Given the description of an element on the screen output the (x, y) to click on. 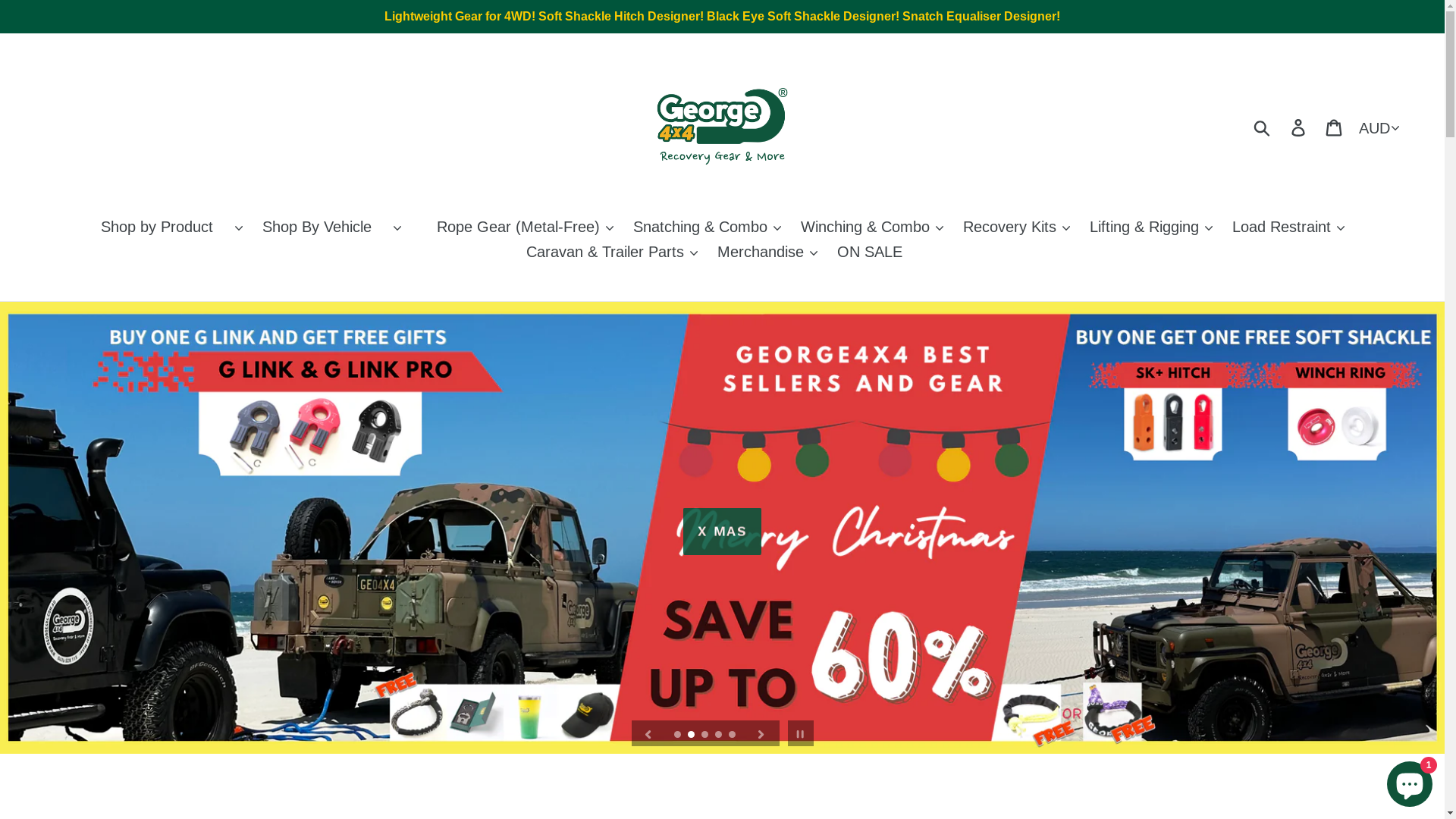
Pause slideshow Element type: text (800, 732)
SHOP Element type: text (722, 527)
Submit Element type: text (1262, 126)
Log in Element type: text (1299, 126)
Shopify online store chat Element type: hover (1409, 780)
Cart Element type: text (1334, 126)
